Given the description of an element on the screen output the (x, y) to click on. 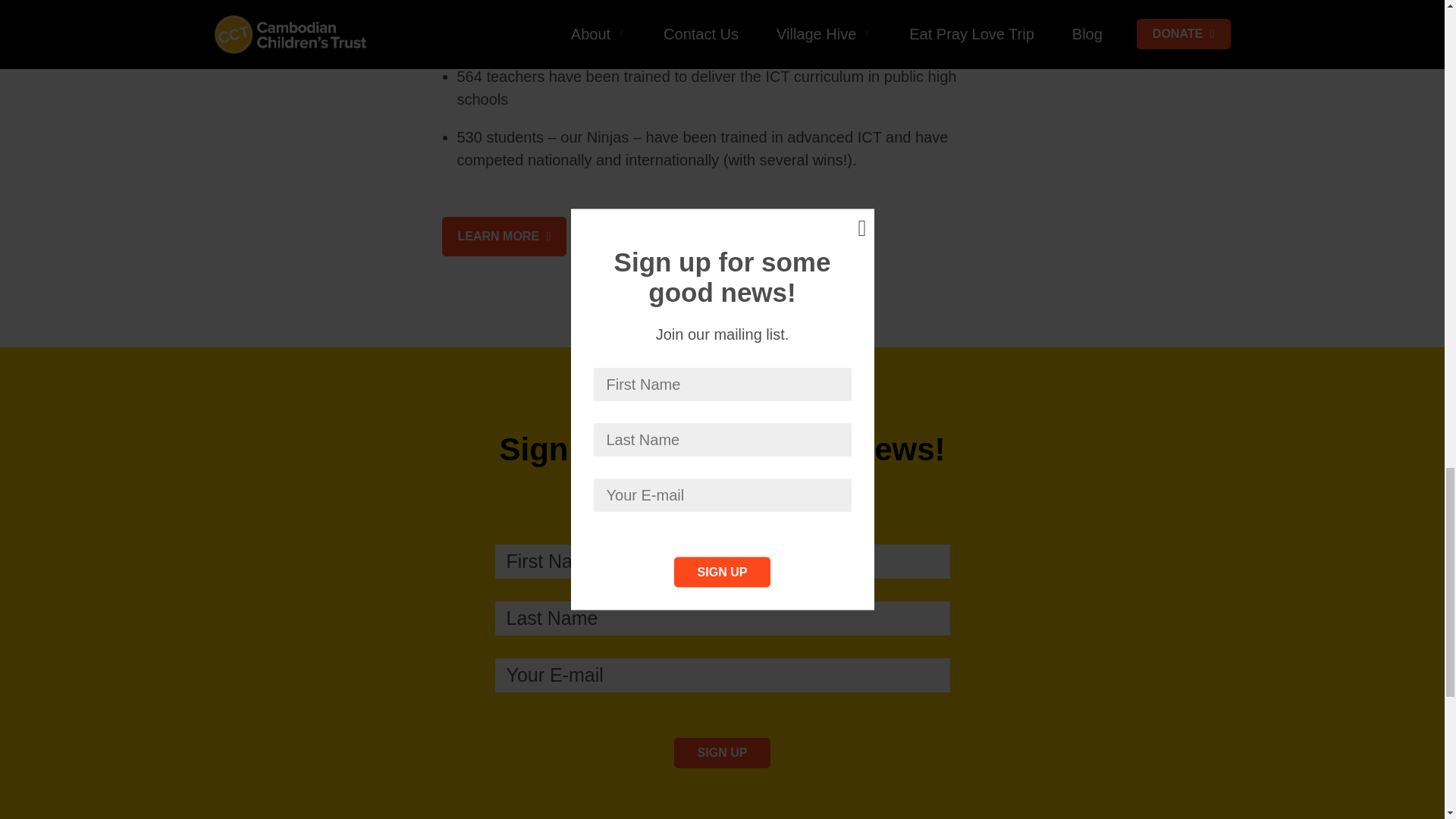
Sign up (722, 752)
